Given the description of an element on the screen output the (x, y) to click on. 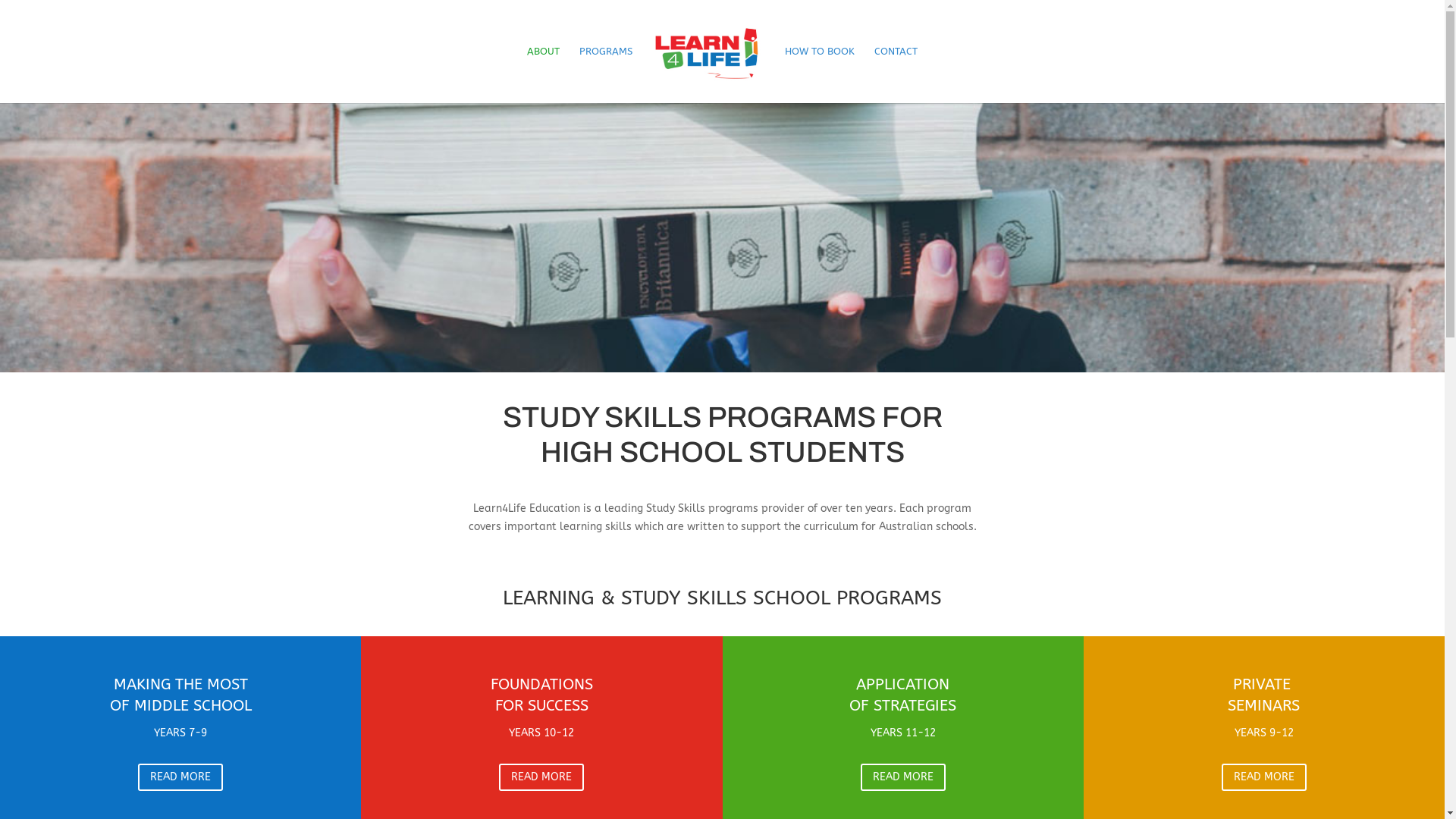
READ MORE Element type: text (540, 776)
ABOUT Element type: text (543, 74)
HOW TO BOOK Element type: text (819, 74)
CONTACT Element type: text (895, 74)
READ MORE Element type: text (180, 776)
PROGRAMS Element type: text (605, 74)
READ MORE Element type: text (902, 776)
READ MORE Element type: text (1263, 776)
